Given the description of an element on the screen output the (x, y) to click on. 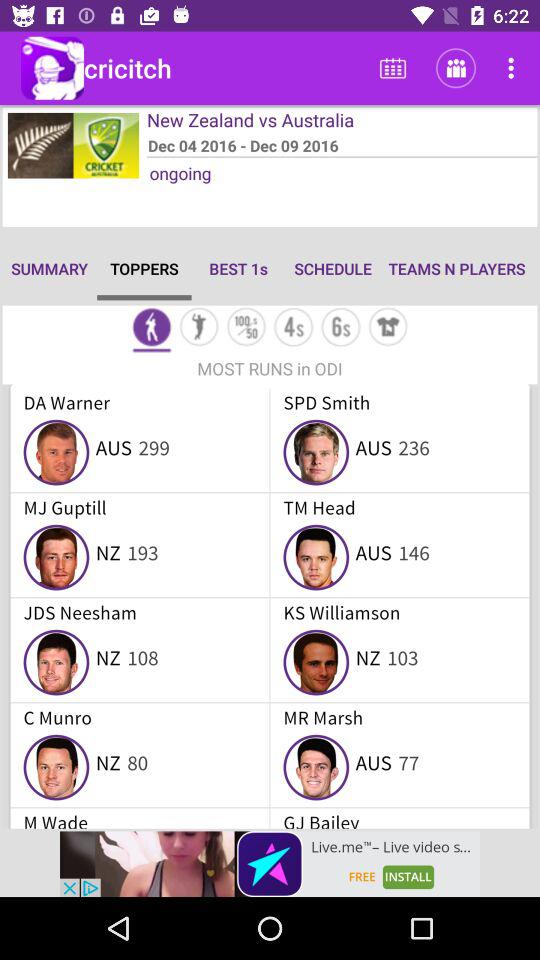
view statistics (246, 328)
